Given the description of an element on the screen output the (x, y) to click on. 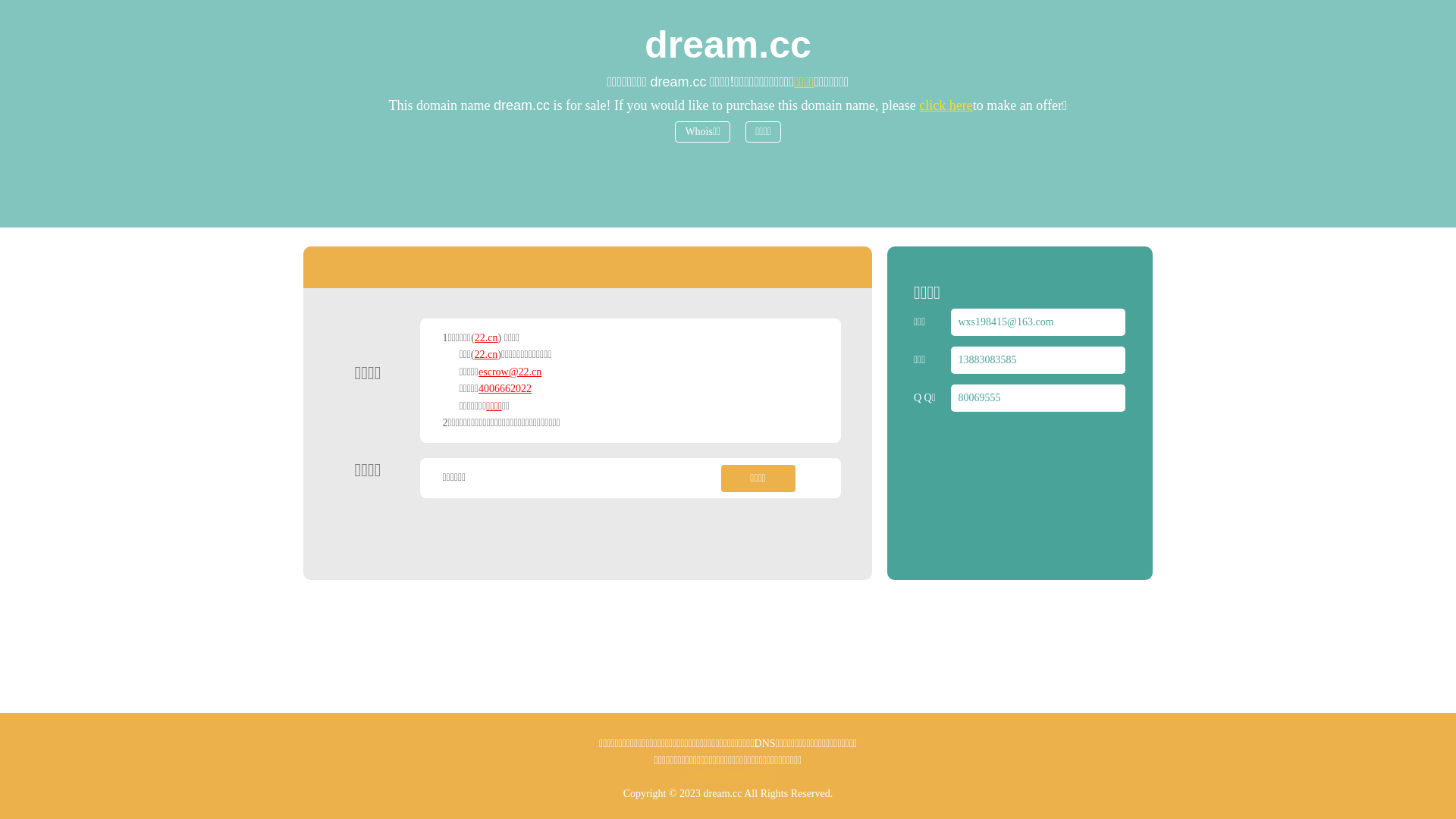
22.cn Element type: text (486, 354)
22.cn Element type: text (486, 337)
click here Element type: text (945, 104)
4006662022 Element type: text (504, 388)
escrow@22.cn Element type: text (509, 371)
